Given the description of an element on the screen output the (x, y) to click on. 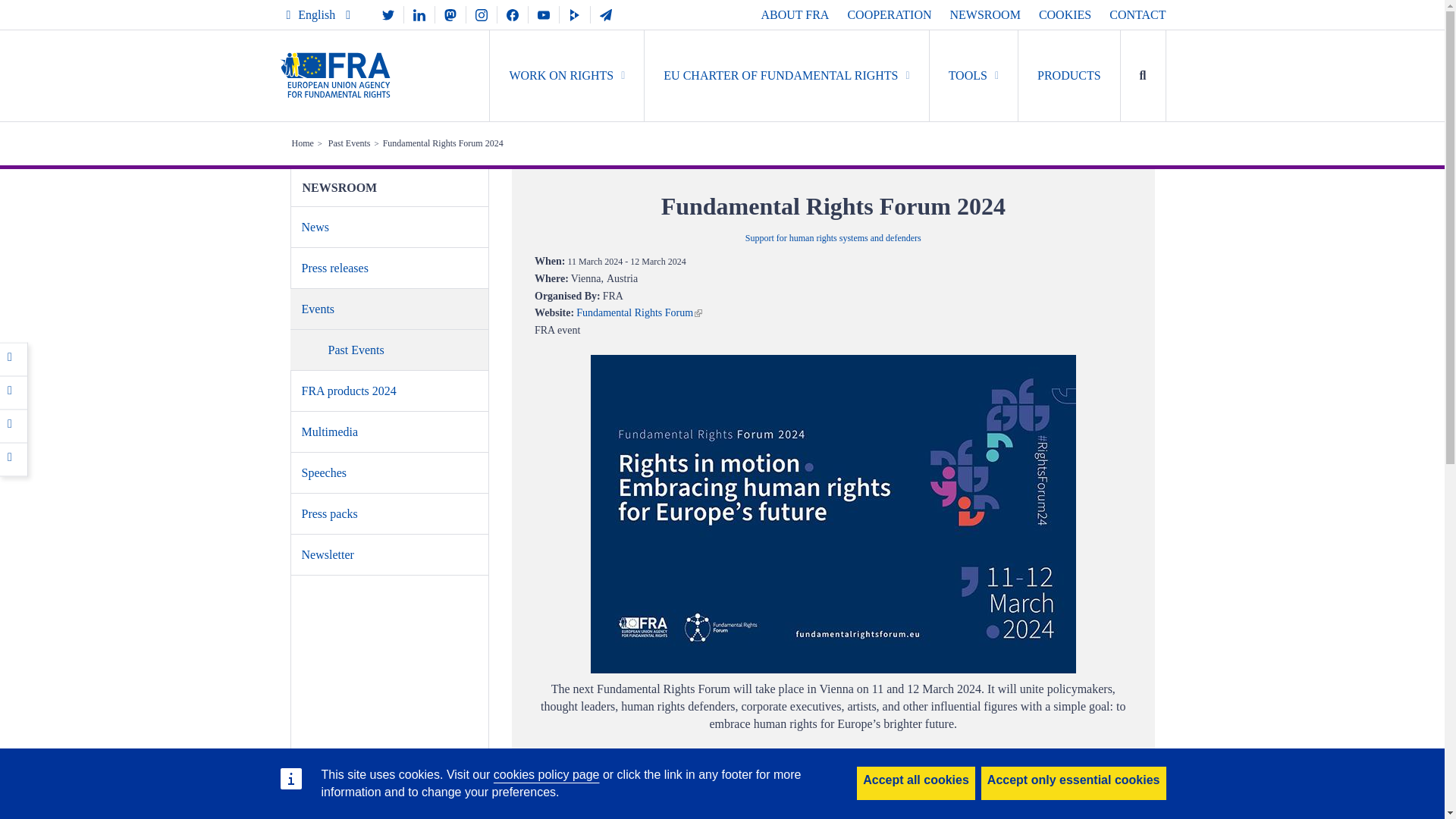
Subscribe to FRA's newsletter (606, 13)
Twitter (13, 390)
NEWSROOM (985, 14)
FRA's Mastodon channel (450, 13)
Facebook (13, 358)
FRA's LinkedIn channel (418, 13)
FRA's YouTube channel (543, 13)
E-mail (13, 458)
COOPERATION (889, 14)
LinkedIn (13, 424)
